Given the description of an element on the screen output the (x, y) to click on. 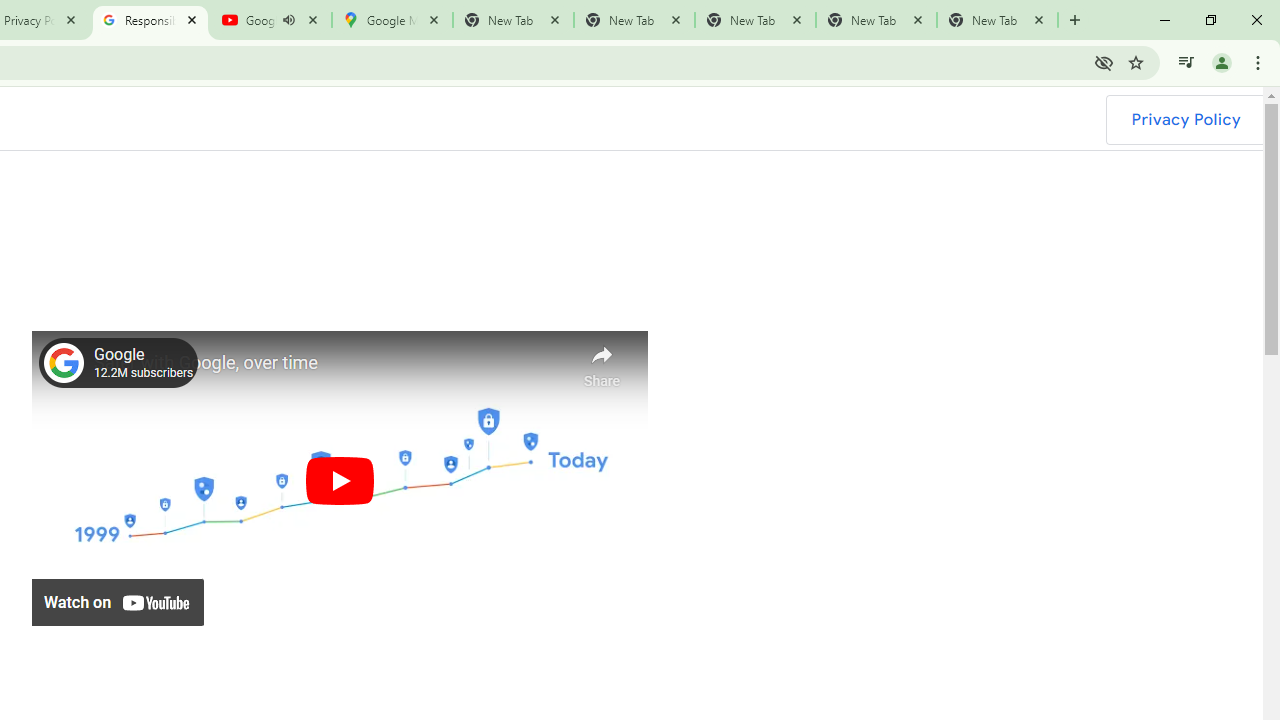
New Tab (997, 20)
Play (339, 480)
